Given the description of an element on the screen output the (x, y) to click on. 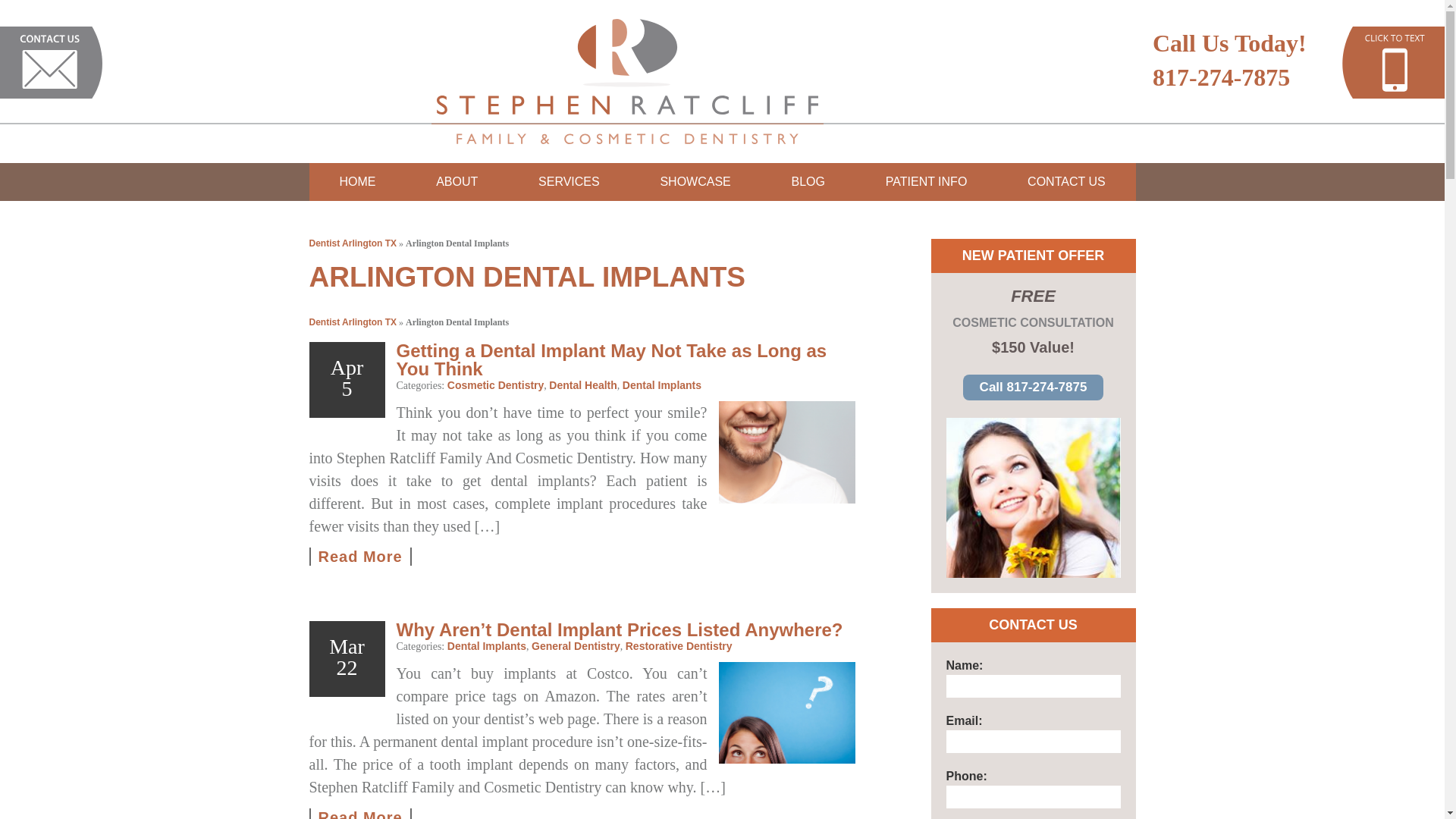
SERVICES (568, 181)
Getting a Dental Implant May Not Take as Long as You Think (360, 556)
ABOUT (457, 181)
Getting a Dental Implant May Not Take as Long as You Think (787, 452)
HOME (357, 181)
